Given the description of an element on the screen output the (x, y) to click on. 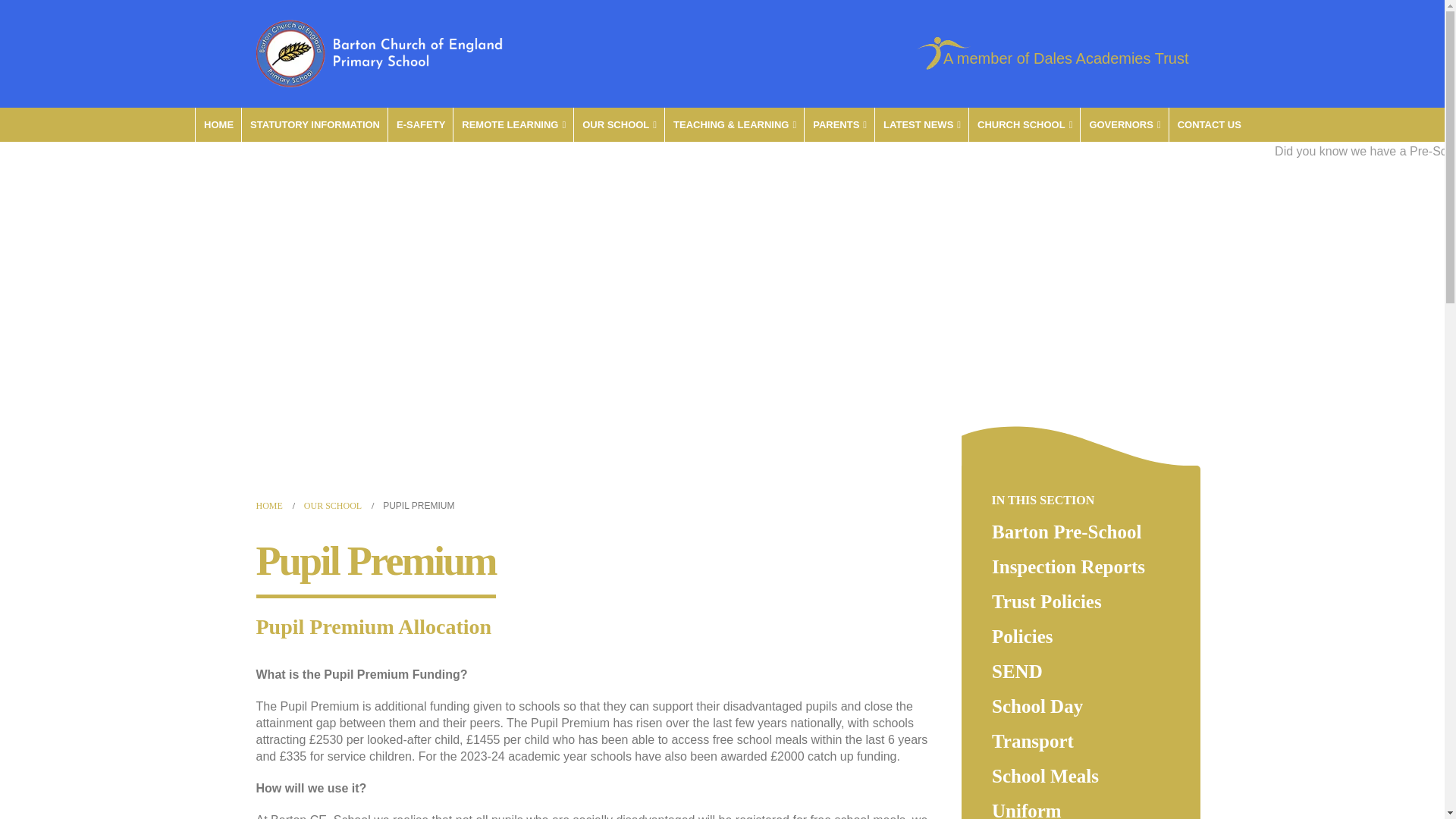
OUR SCHOOL (618, 124)
REMOTE LEARNING (512, 124)
HOME (218, 124)
E-SAFETY (420, 124)
STATUTORY INFORMATION (314, 124)
Go to Home Page (269, 505)
